Given the description of an element on the screen output the (x, y) to click on. 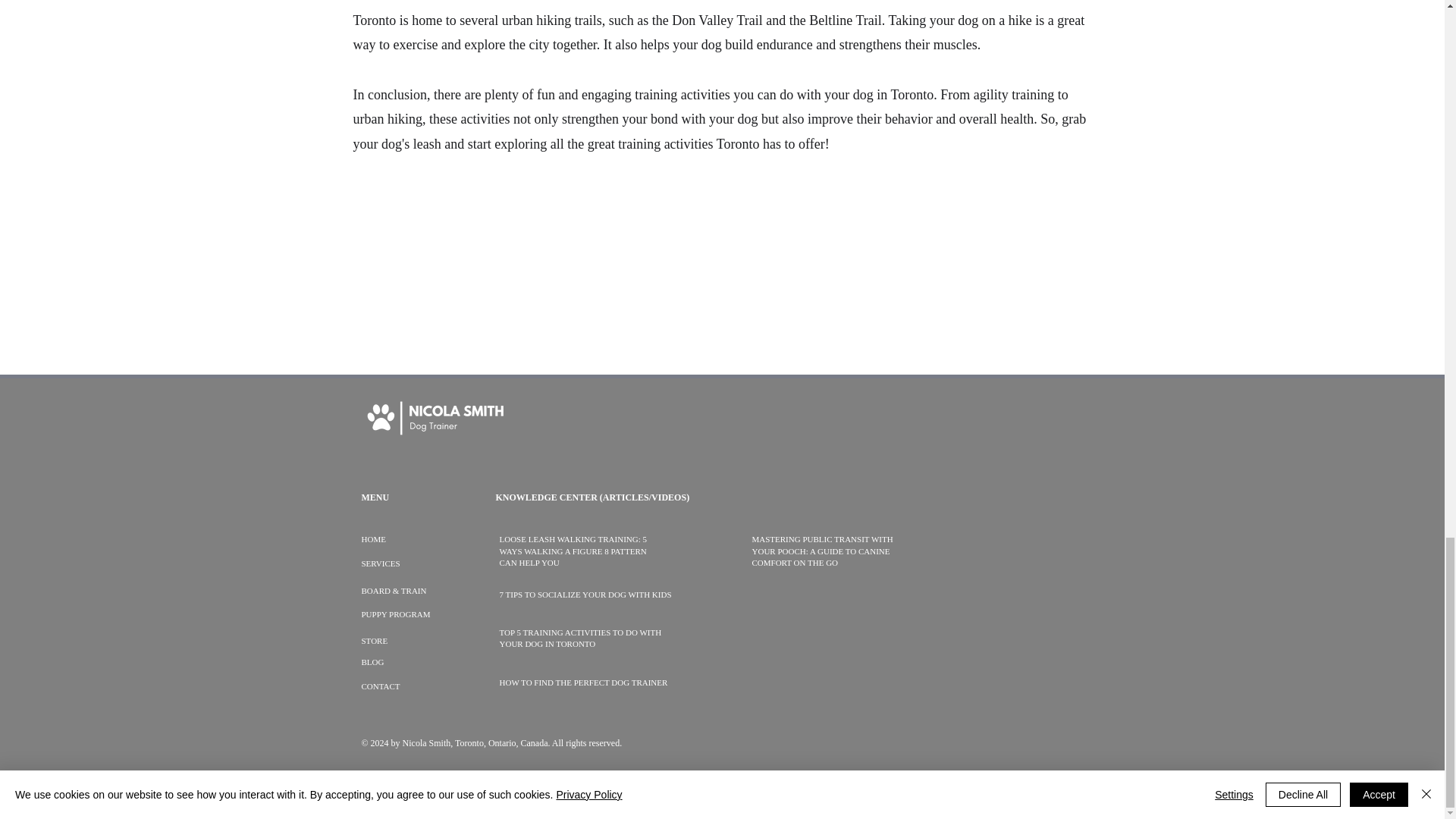
HOW TO FIND THE PERFECT DOG TRAINER (582, 682)
SERVICES (379, 563)
TOP 5 TRAINING ACTIVITIES TO DO WITH YOUR DOG IN TORONTO (580, 638)
7 TIPS TO SOCIALIZE YOUR DOG WITH KIDS (585, 593)
STORE (374, 640)
BLOG (372, 661)
CONTACT (379, 686)
HOME (373, 538)
